Given the description of an element on the screen output the (x, y) to click on. 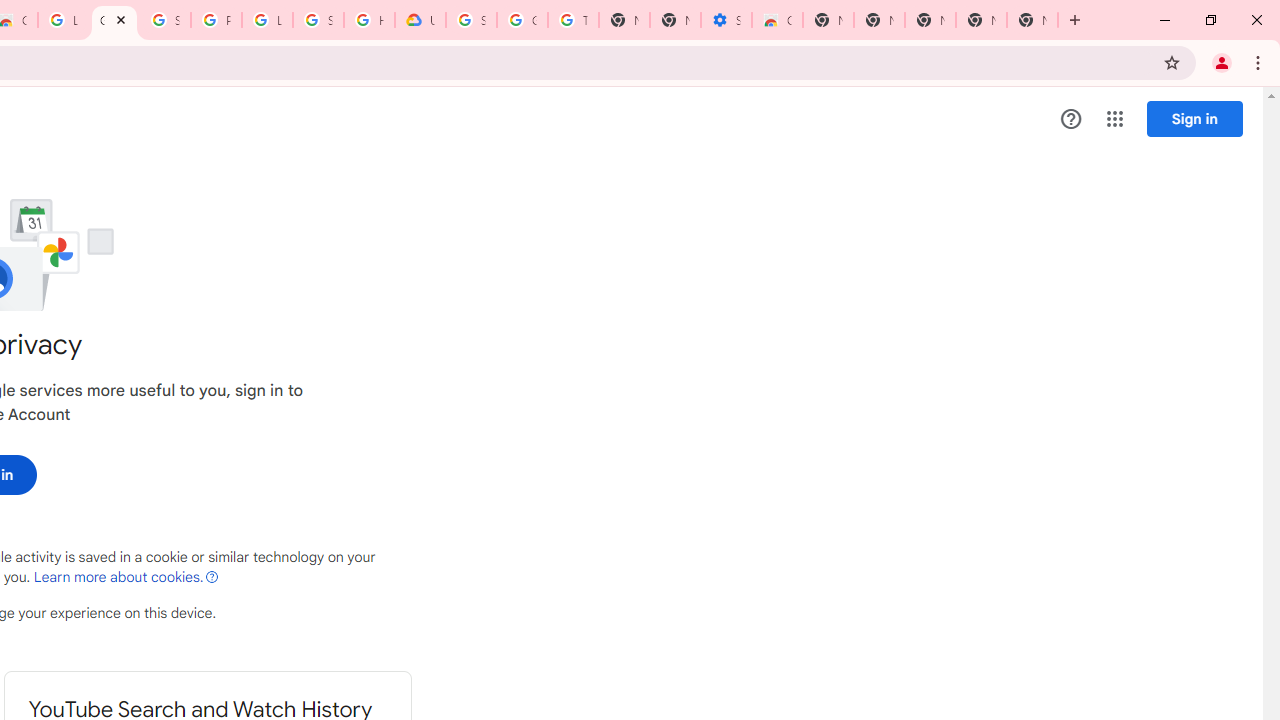
Google Account Help (521, 20)
Google Account (113, 20)
Settings - Accessibility (726, 20)
Sign in - Google Accounts (164, 20)
